Given the description of an element on the screen output the (x, y) to click on. 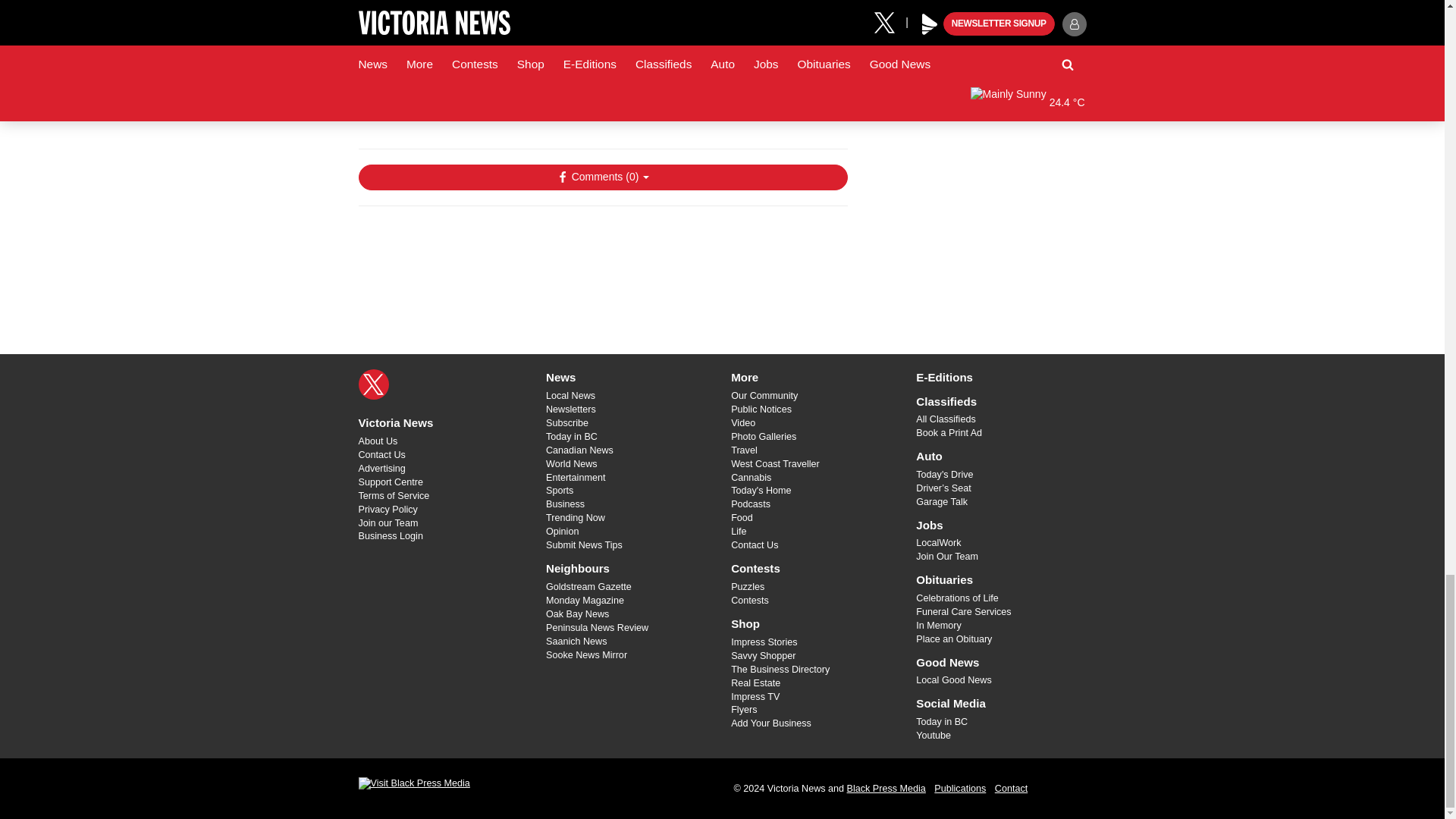
X (373, 384)
Show Comments (602, 177)
